Given the description of an element on the screen output the (x, y) to click on. 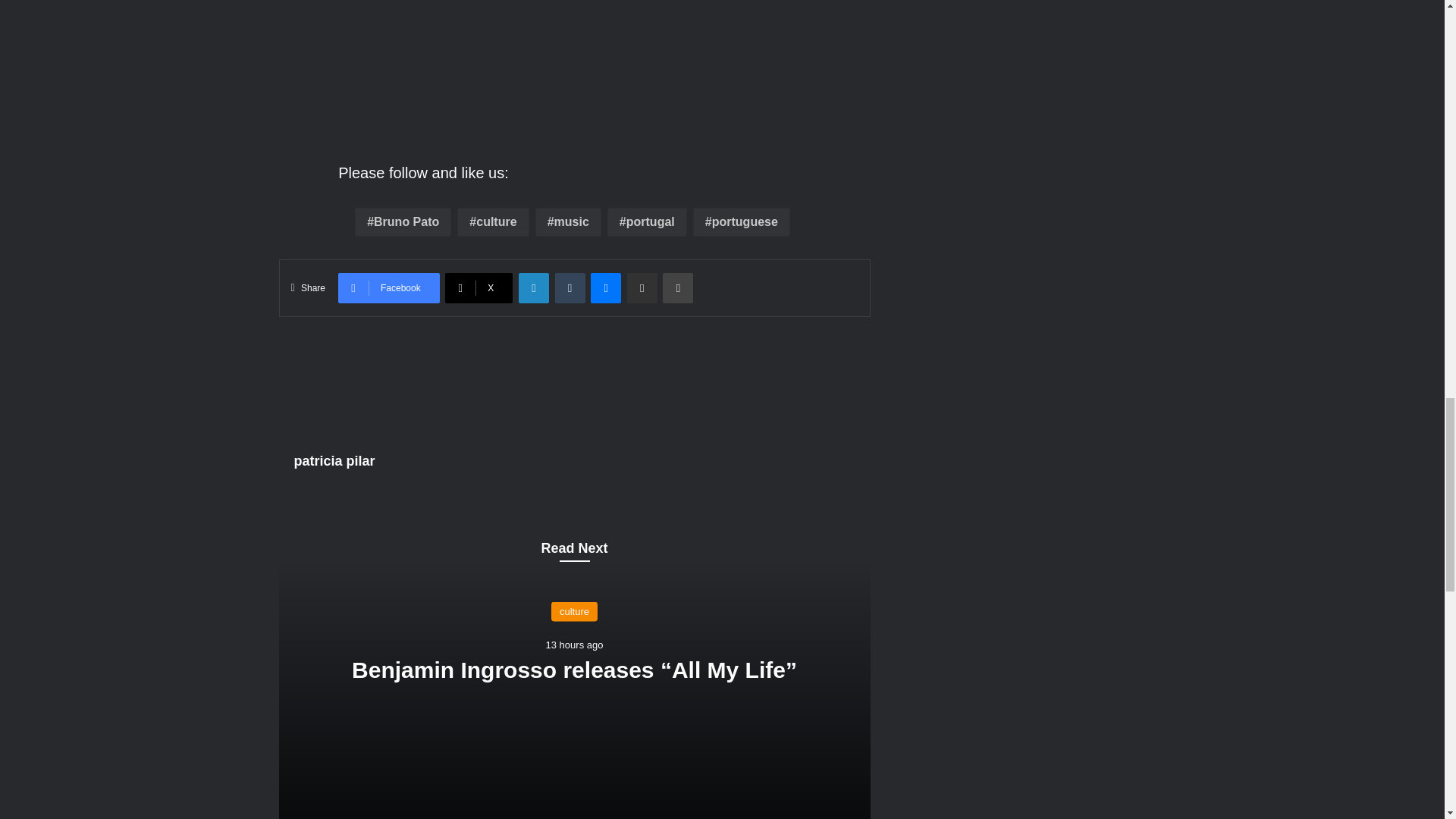
Pin Share (686, 189)
Facebook Share (693, 173)
LinkedIn (533, 287)
Tweet (459, 189)
Facebook (388, 287)
Tumblr (569, 287)
Messenger (606, 287)
Share via Email (642, 287)
X (478, 287)
